Given the description of an element on the screen output the (x, y) to click on. 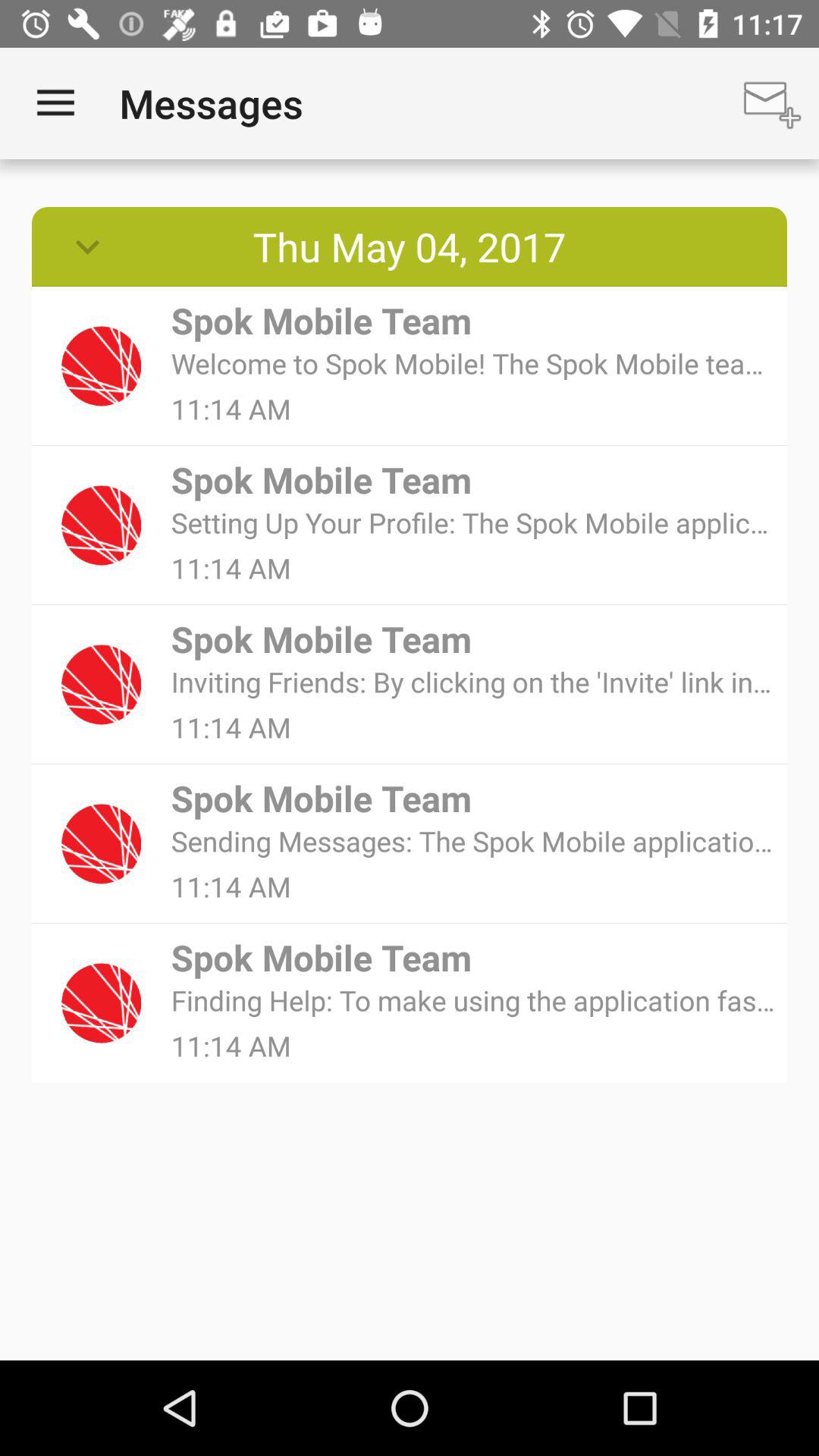
open the item above the 11:14 am icon (473, 681)
